Given the description of an element on the screen output the (x, y) to click on. 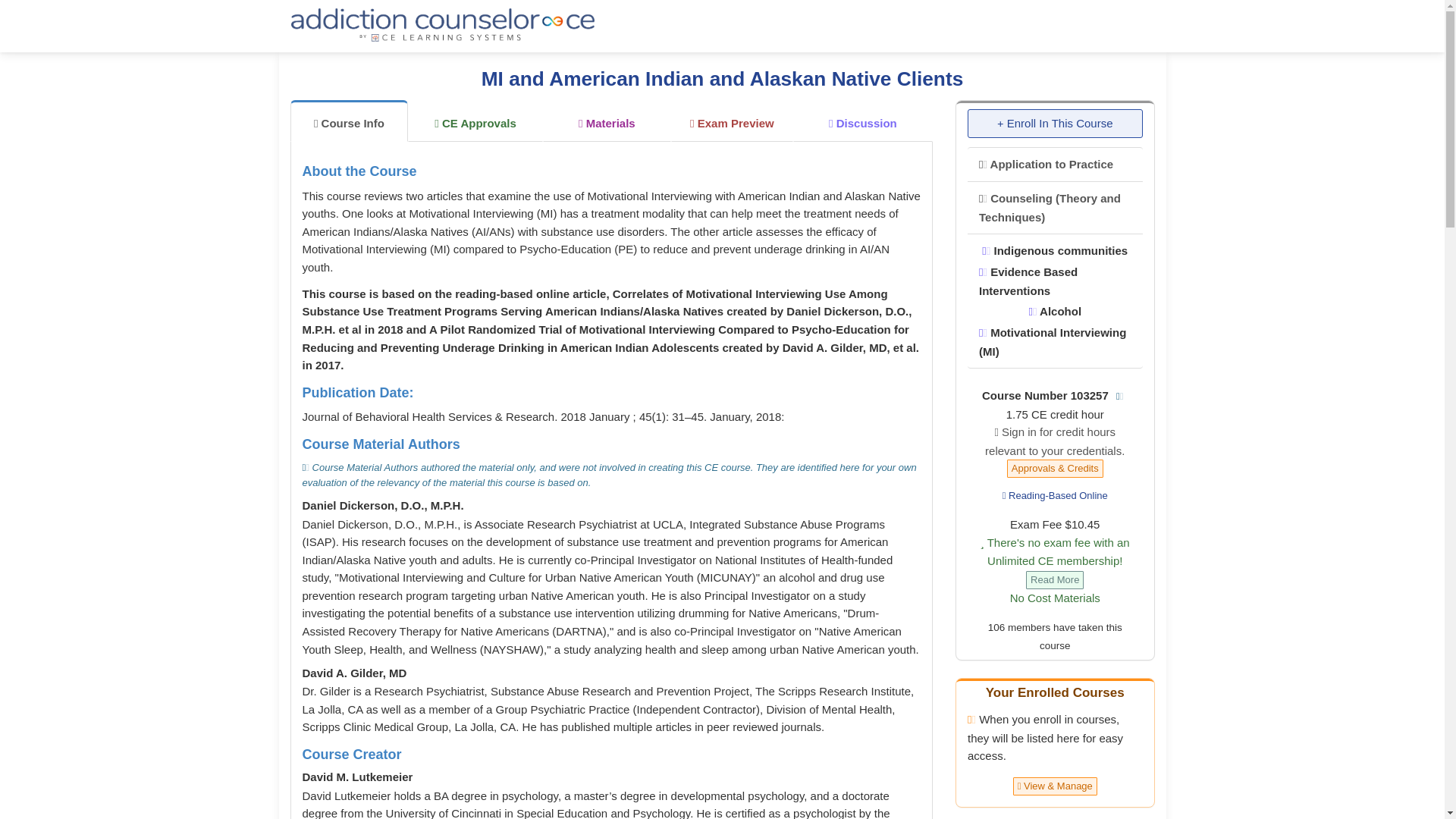
Alcohol (1054, 310)
Evidence Based Interventions (1027, 281)
Course Info (348, 120)
Materials (607, 121)
CE Approvals (474, 121)
Discussion (863, 121)
Your Enrolled Courses (1054, 692)
Application to Practice (1045, 164)
Exam Preview (732, 121)
David M. Lutkemeier (356, 776)
